Given the description of an element on the screen output the (x, y) to click on. 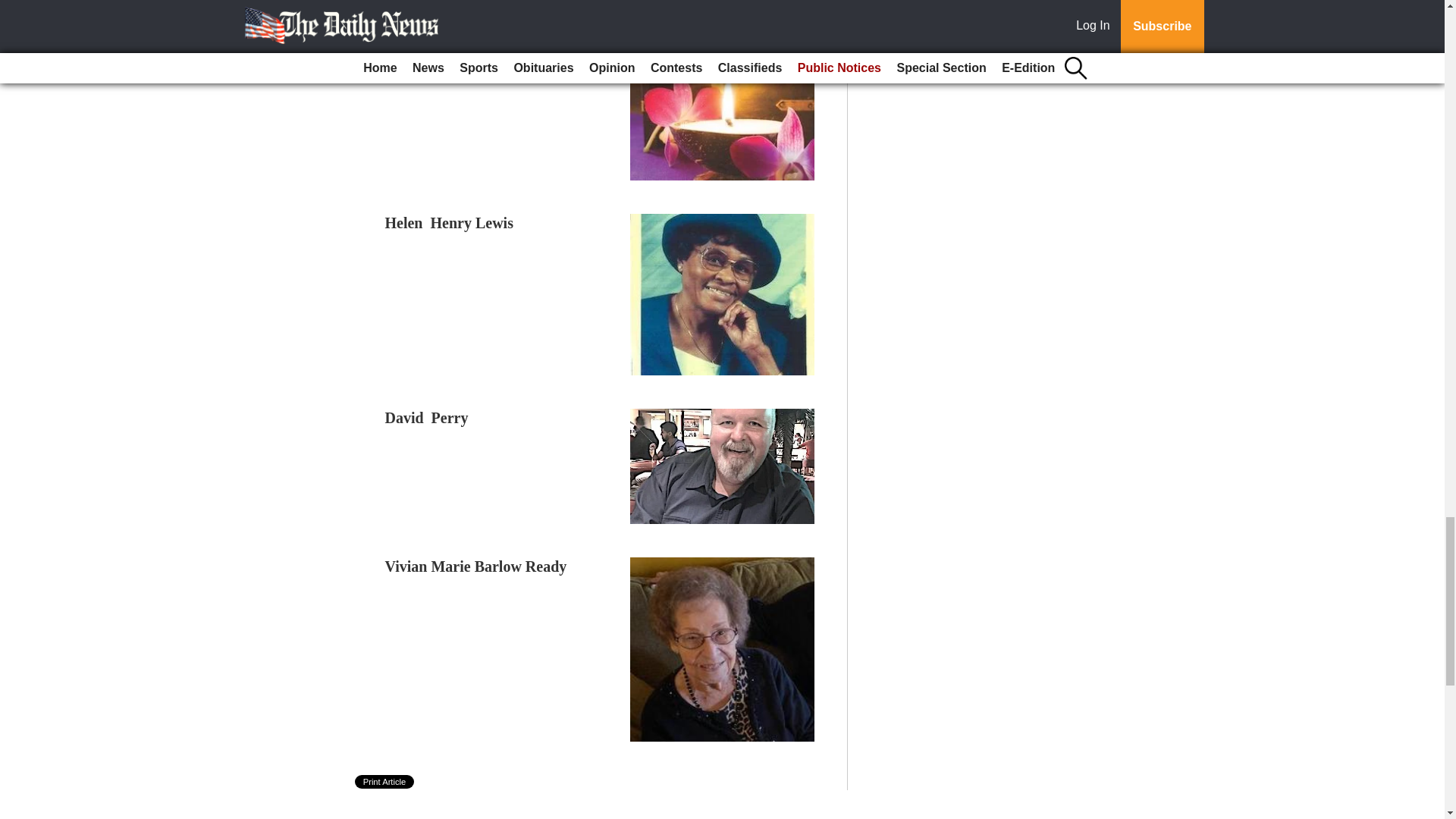
Print Article (384, 781)
Vivian Marie Barlow Ready (476, 565)
Helen  Henry Lewis (449, 222)
David  Perry (426, 417)
Vivian Marie Barlow Ready (476, 565)
Billy  Wayne Crosby (451, 15)
